Given the description of an element on the screen output the (x, y) to click on. 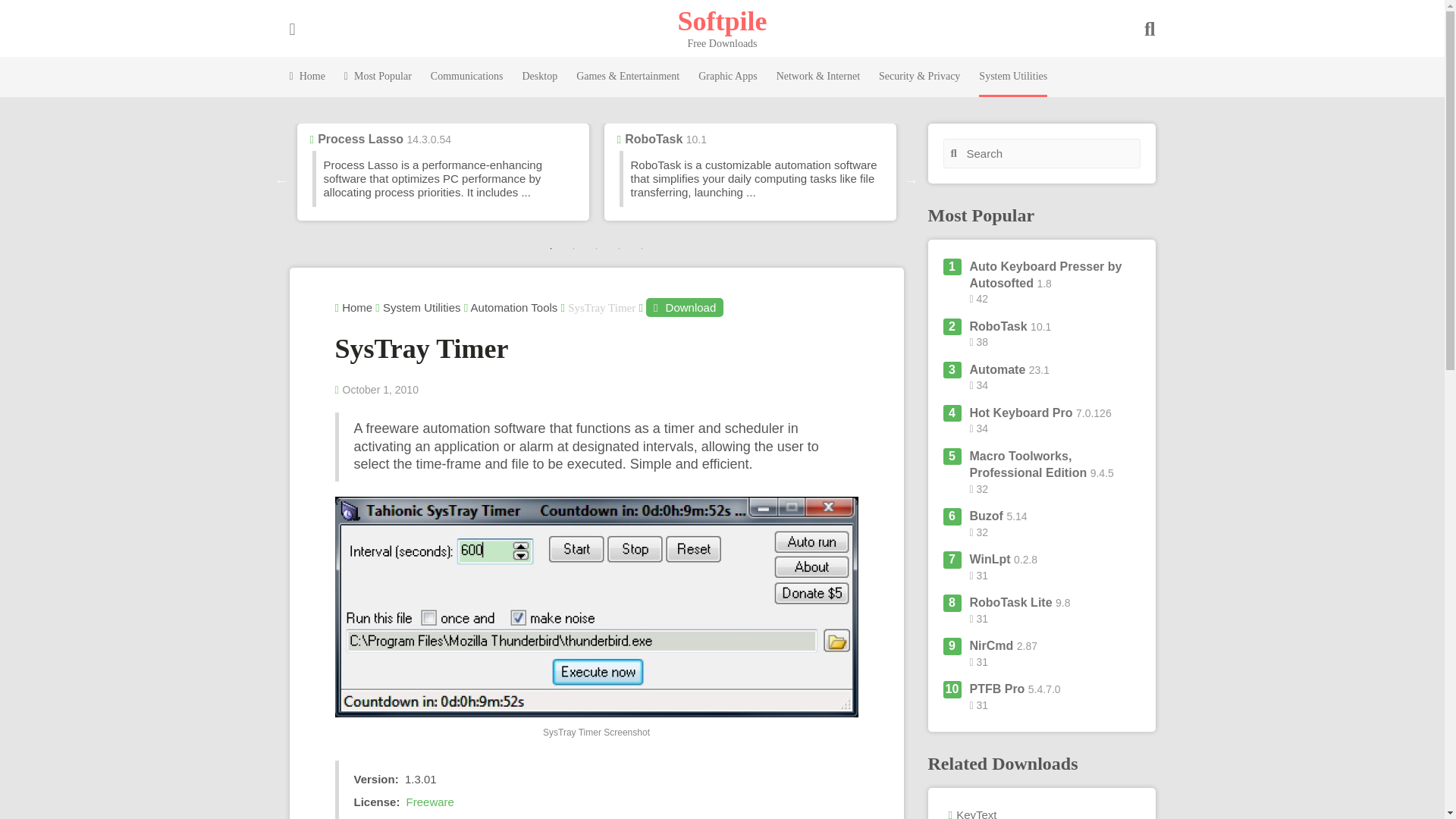
RoboTask (653, 138)
Communications (466, 76)
SysTray Timer (596, 606)
Free Downloads (722, 20)
Process Lasso (360, 138)
Most Popular (377, 76)
Softpile (722, 20)
Graphic Apps (727, 76)
System Utilities (1012, 76)
PREVIOUS (282, 180)
